Given the description of an element on the screen output the (x, y) to click on. 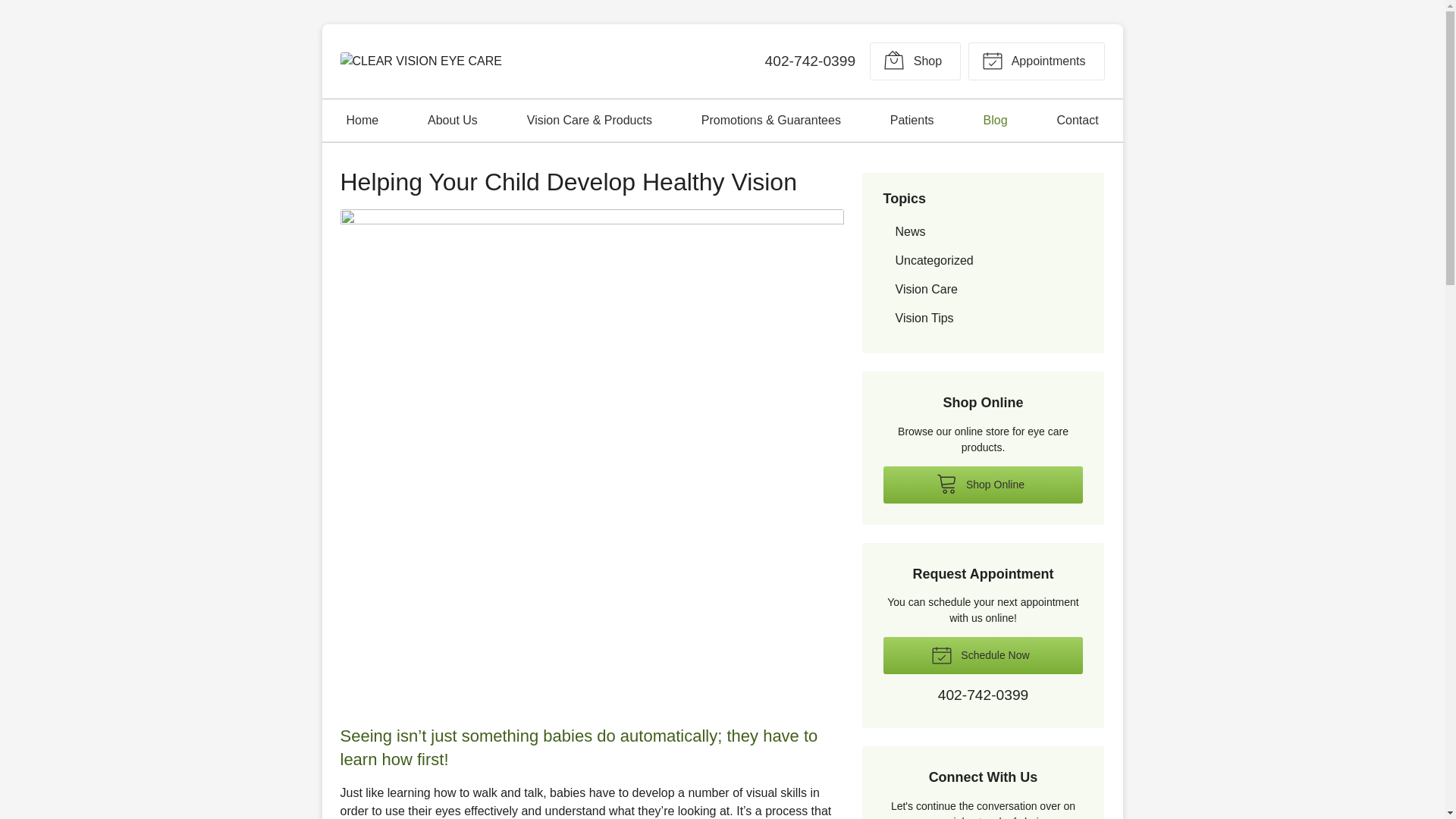
Appointments (1035, 61)
Request Appointment (1035, 61)
Call practice (810, 60)
Home (362, 120)
Schedule Now (982, 655)
About Us (452, 120)
Shop Online (914, 61)
Shop (914, 61)
Blog (995, 120)
Call practice (983, 695)
